Given the description of an element on the screen output the (x, y) to click on. 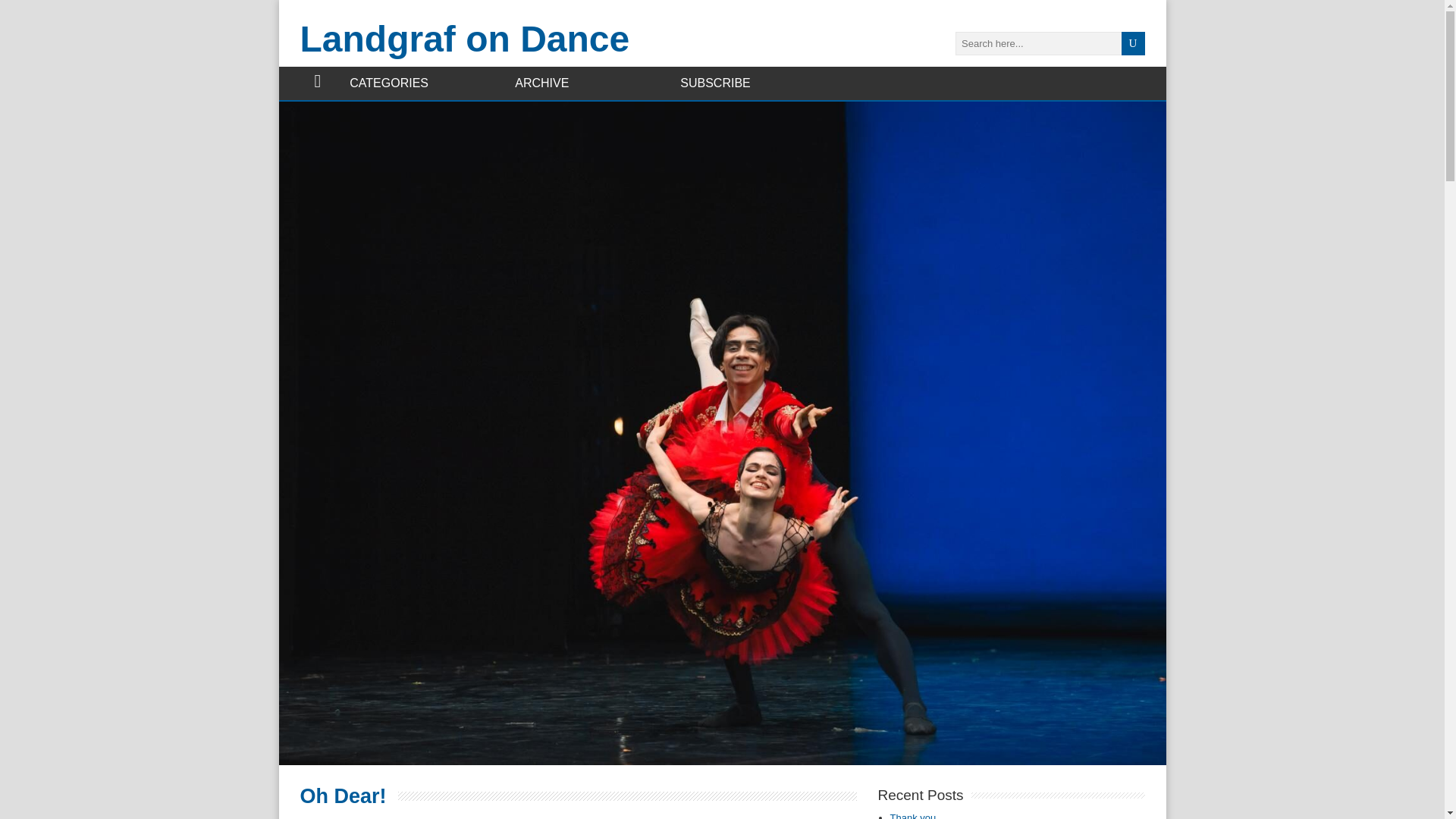
Landgraf on Dance (464, 38)
U (1132, 43)
U (1132, 43)
U (1132, 43)
